Given the description of an element on the screen output the (x, y) to click on. 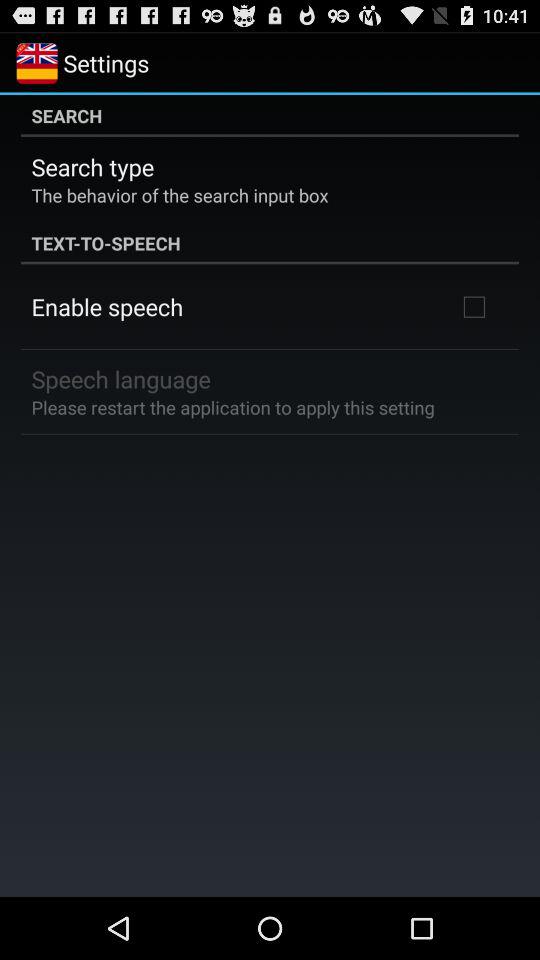
press the app next to enable speech app (474, 306)
